Given the description of an element on the screen output the (x, y) to click on. 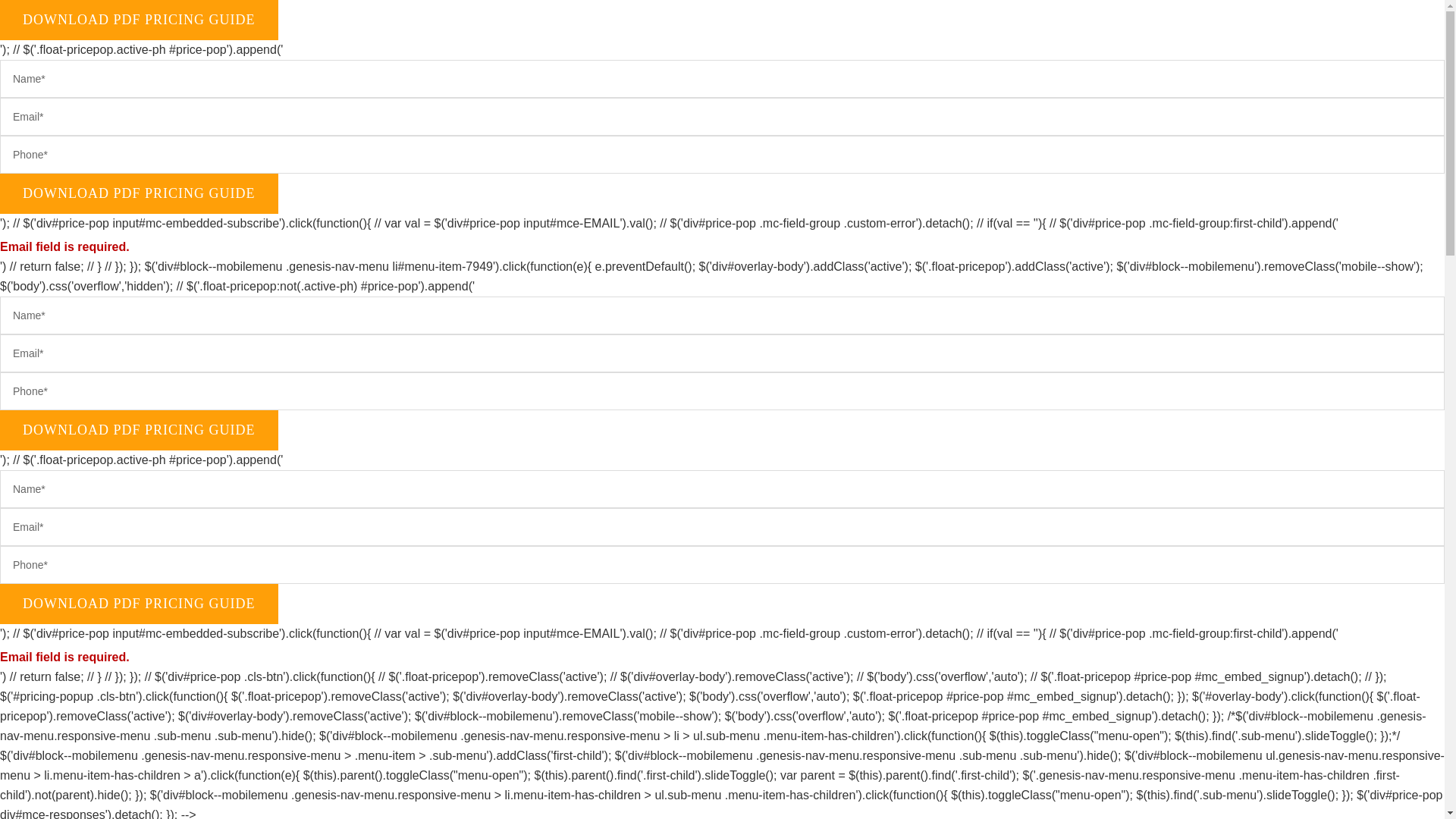
Download PDF Pricing Guide (139, 193)
Download PDF Pricing Guide (139, 20)
Download PDF Pricing Guide (139, 430)
Download PDF Pricing Guide (139, 20)
Download PDF Pricing Guide (139, 193)
Download PDF Pricing Guide (139, 430)
Download PDF Pricing Guide (139, 603)
Download PDF Pricing Guide (139, 603)
